Given the description of an element on the screen output the (x, y) to click on. 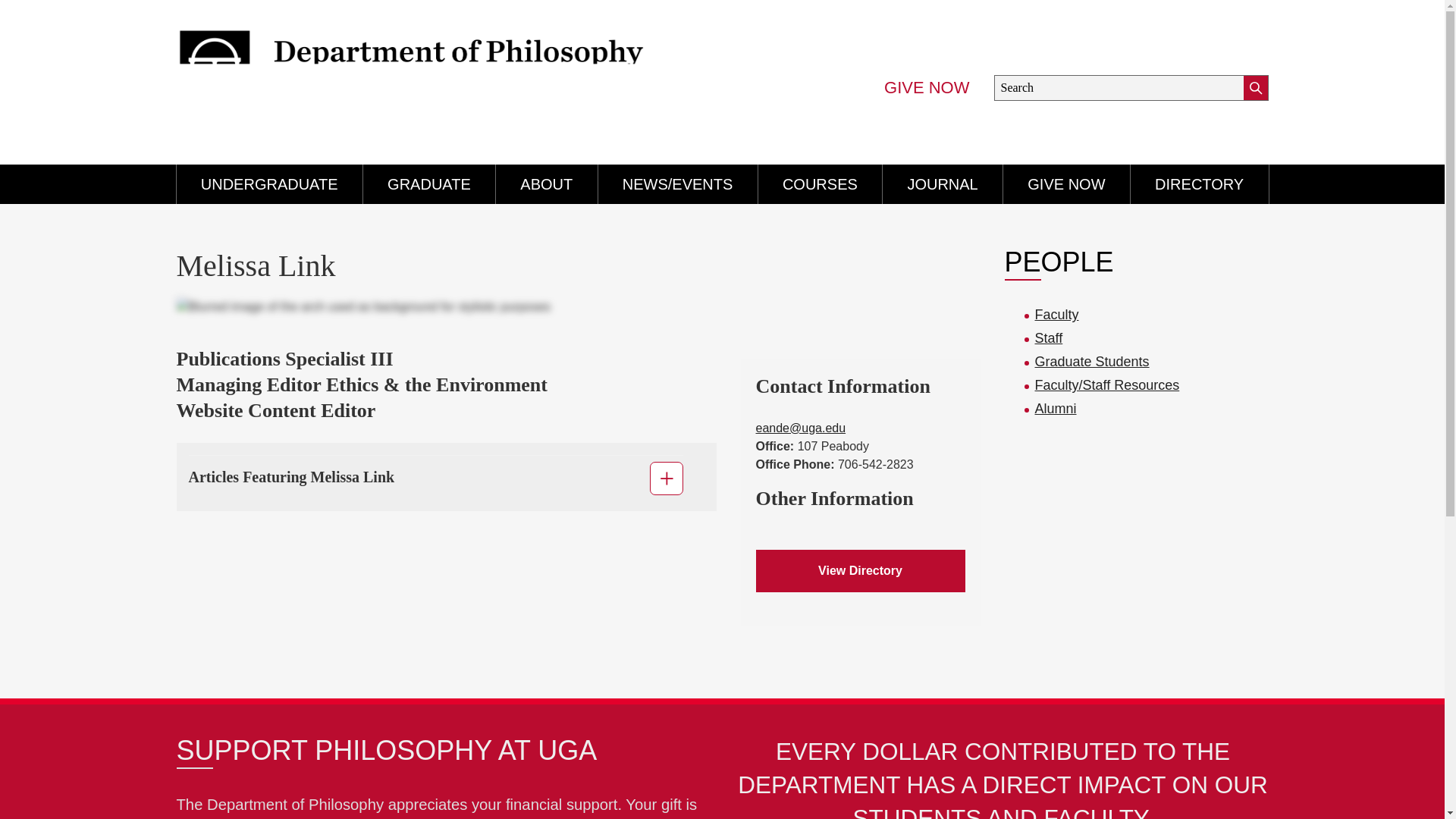
GIVE NOW (926, 88)
Submit Search (1255, 87)
Home (432, 75)
UNDERGRADUATE (268, 183)
